Given the description of an element on the screen output the (x, y) to click on. 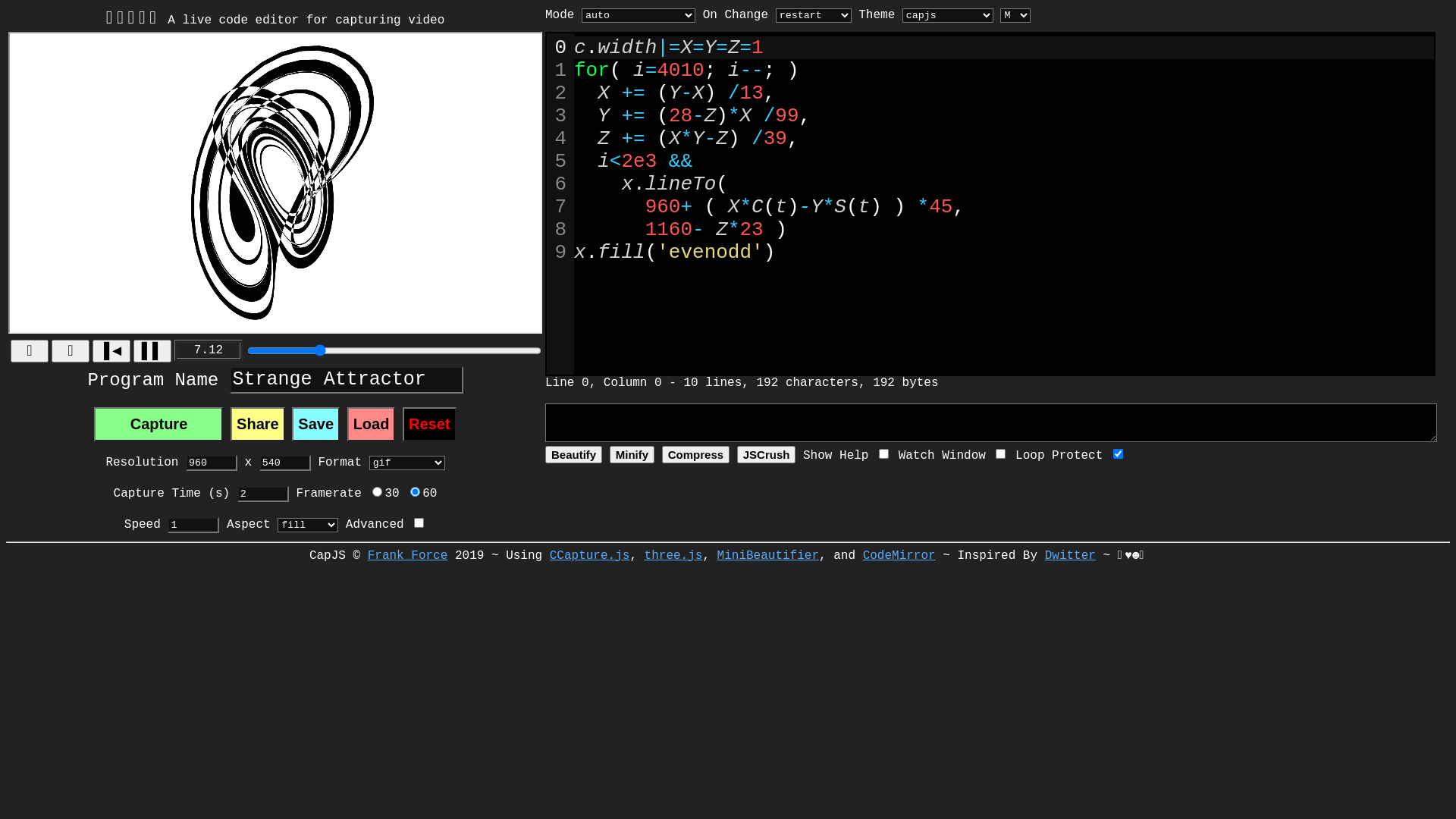
Load Element type: text (371, 424)
Dwitter Element type: text (1069, 555)
Reset Element type: text (428, 424)
Try to prevent infinte loops Element type: hover (1118, 453)
MiniBeautifier Element type: text (768, 555)
Capture Element type: text (158, 424)
Display object debug info Element type: hover (1000, 453)
Beautify Element type: text (573, 454)
Save Element type: text (315, 424)
Minify Element type: text (631, 454)
Display help and example code Element type: hover (883, 453)
JSCrush Element type: text (766, 454)
CCapture.js Element type: text (589, 555)
Compress Element type: text (695, 454)
Share Element type: text (257, 424)
CodeMirror Element type: text (898, 555)
Frank Force Element type: text (407, 555)
three.js Element type: text (673, 555)
